Given the description of an element on the screen output the (x, y) to click on. 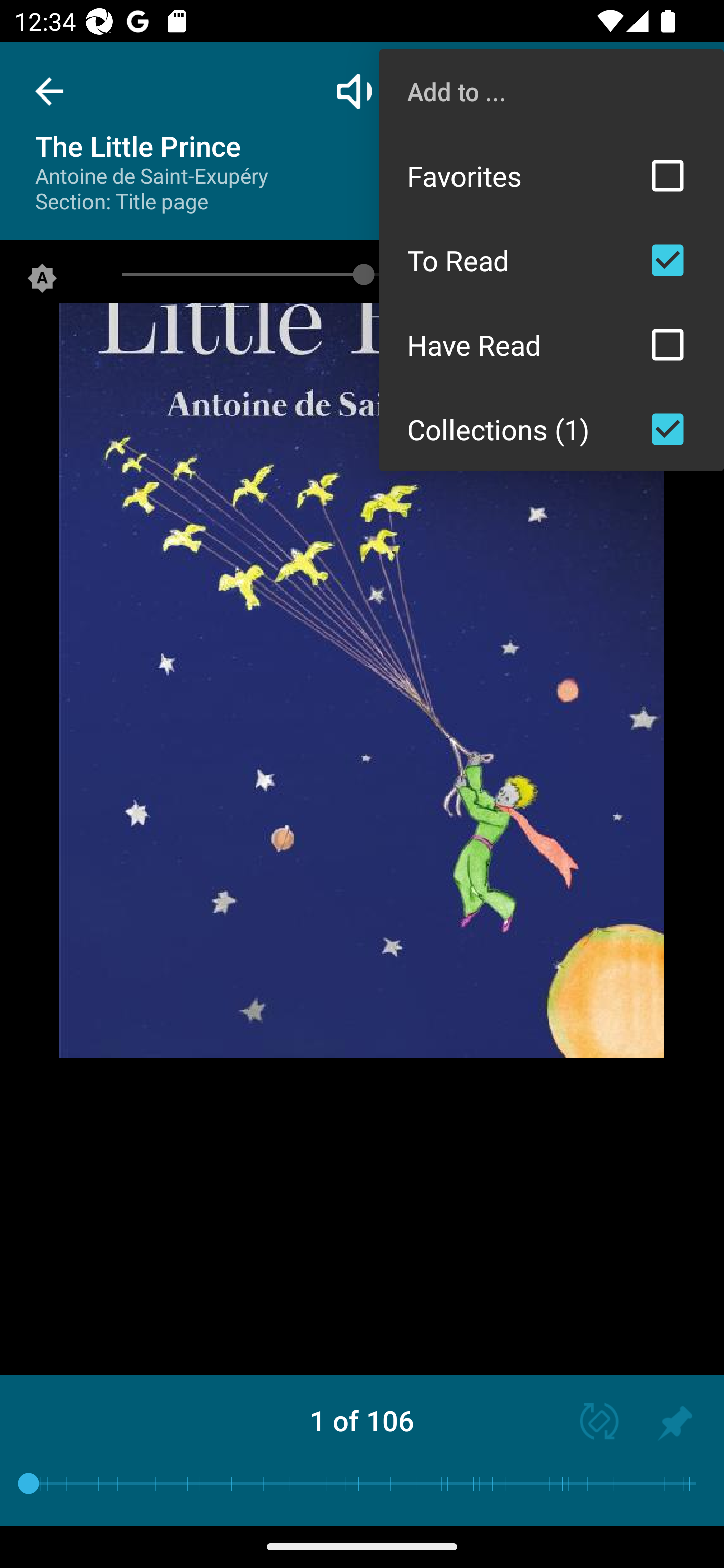
Favorites (551, 175)
To Read (551, 259)
Have Read (551, 344)
Collections (1) (551, 429)
